Given the description of an element on the screen output the (x, y) to click on. 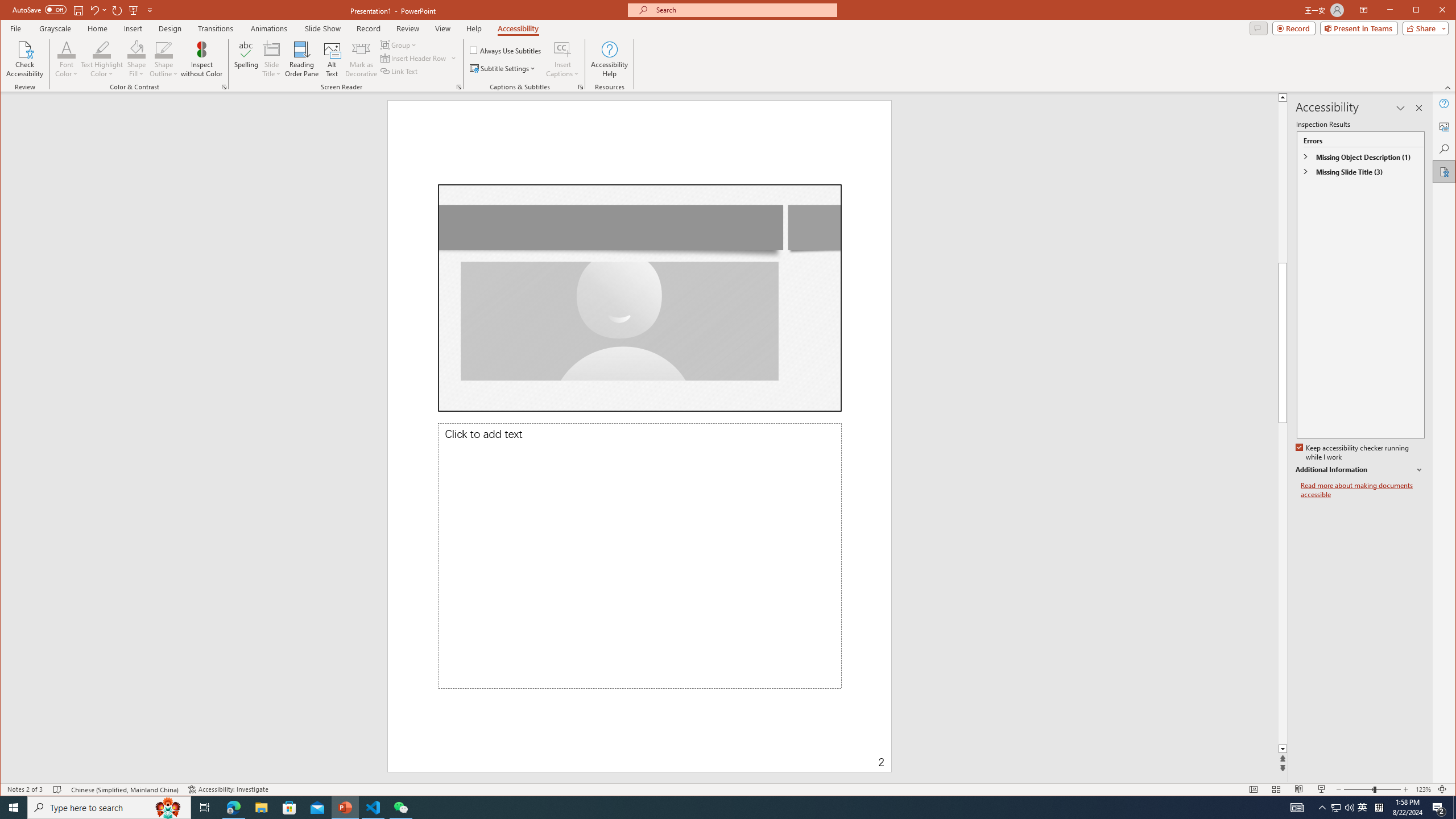
User Promoted Notification Area (1342, 807)
Spelling... (246, 59)
Search highlights icon opens search home window (167, 807)
Link Text (399, 70)
Insert Captions (562, 48)
Notification Chevron (1322, 807)
Accessibility Checker Accessibility: Investigate (228, 789)
Screen Reader (458, 86)
Microsoft Store (289, 807)
